Given the description of an element on the screen output the (x, y) to click on. 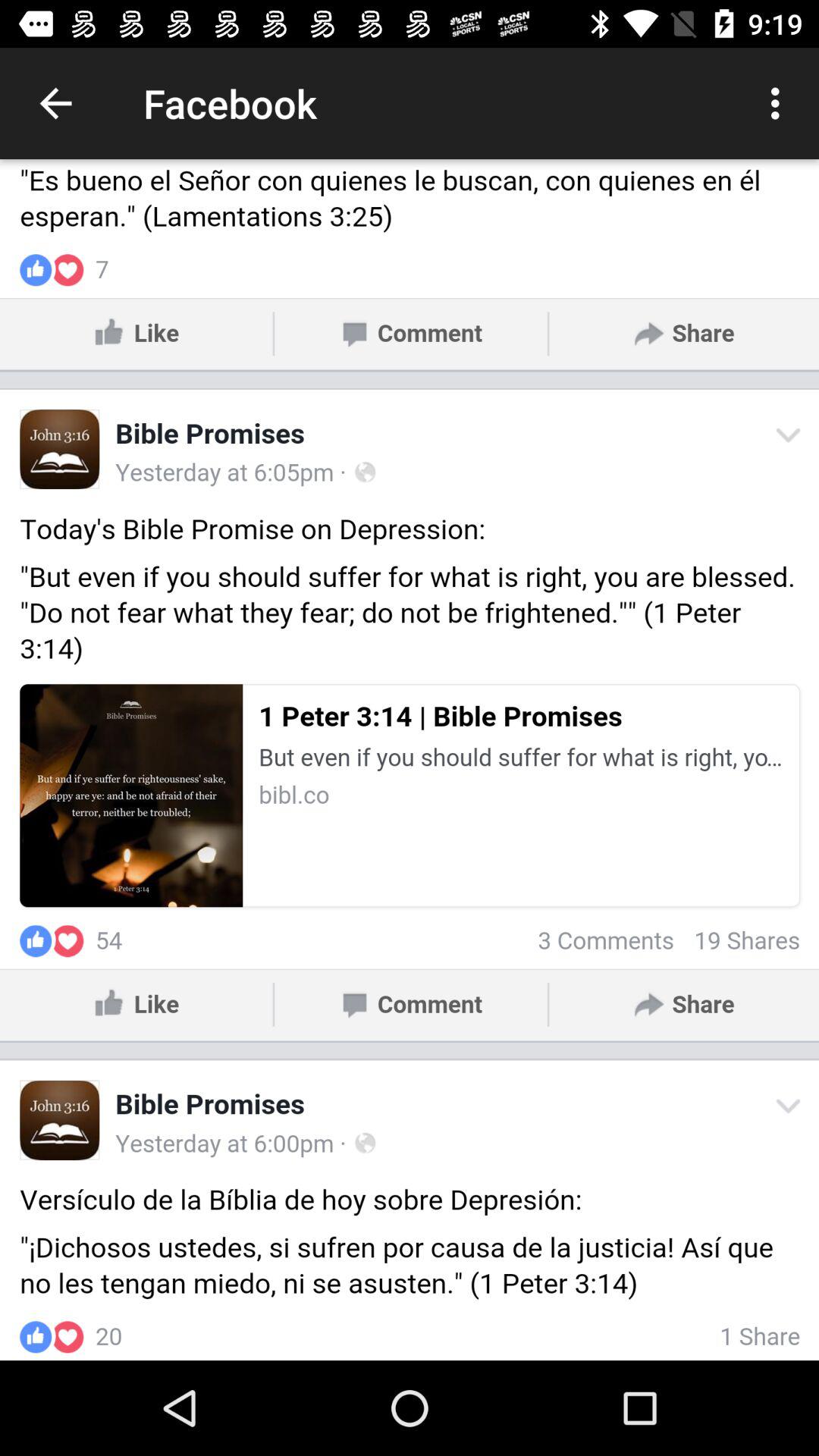
facebook page screen botton (409, 759)
